Given the description of an element on the screen output the (x, y) to click on. 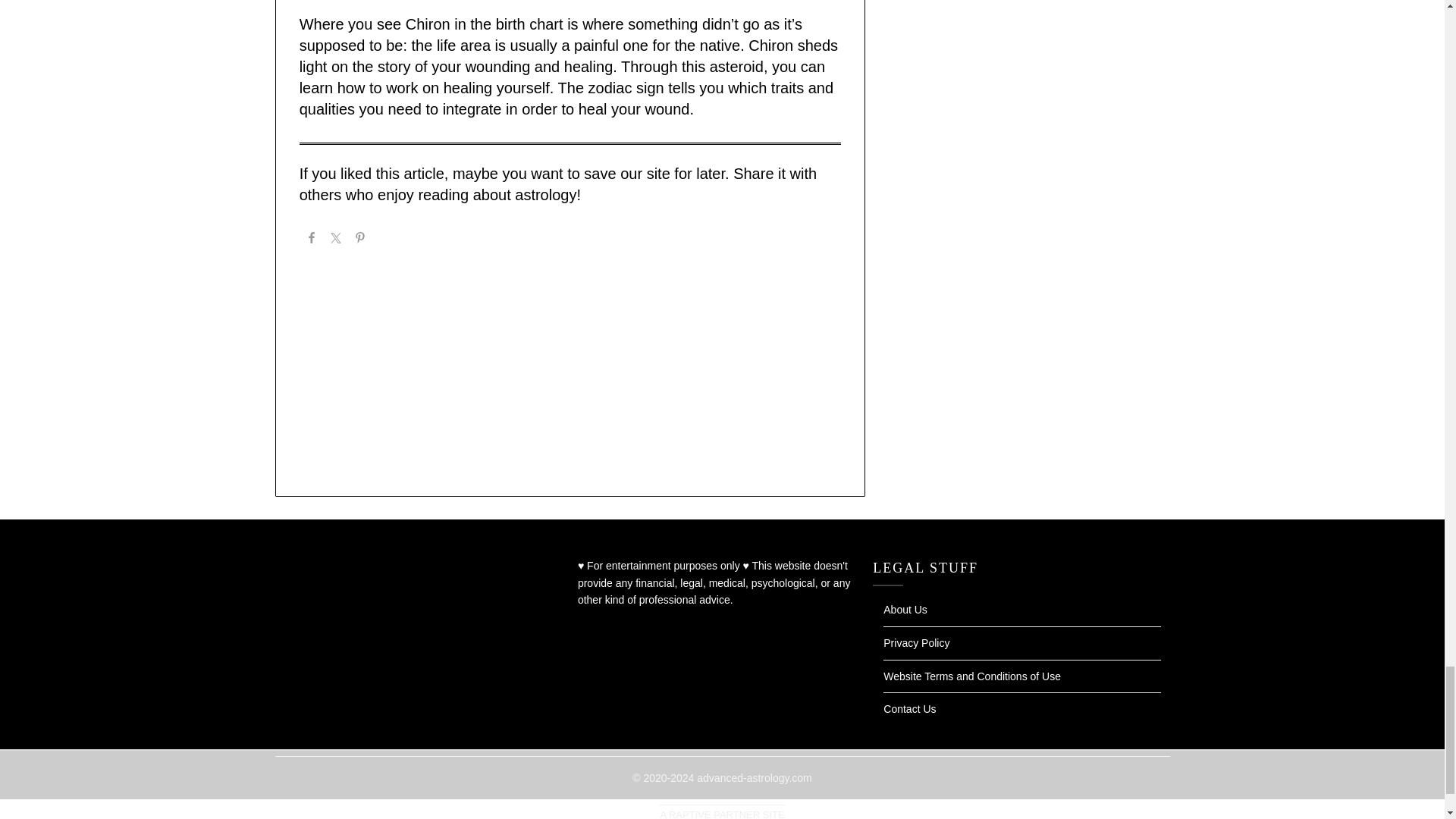
Share on Pinterest (359, 240)
Share on Twitter (335, 240)
Share on Facebook (311, 240)
